Given the description of an element on the screen output the (x, y) to click on. 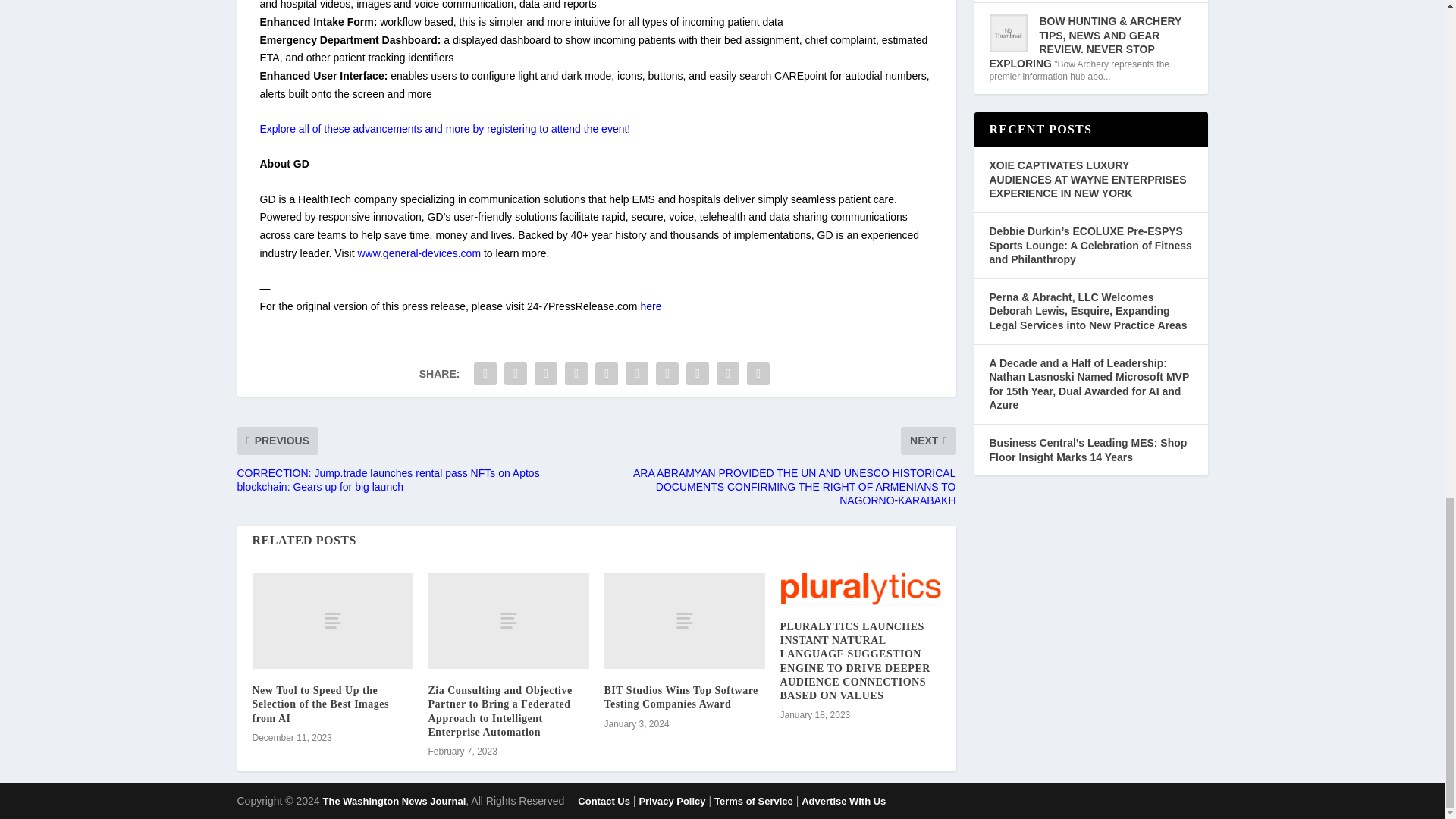
www.general-devices.com (418, 253)
BIT Studios Wins Top Software Testing Companies Award (684, 620)
here (650, 306)
